Given the description of an element on the screen output the (x, y) to click on. 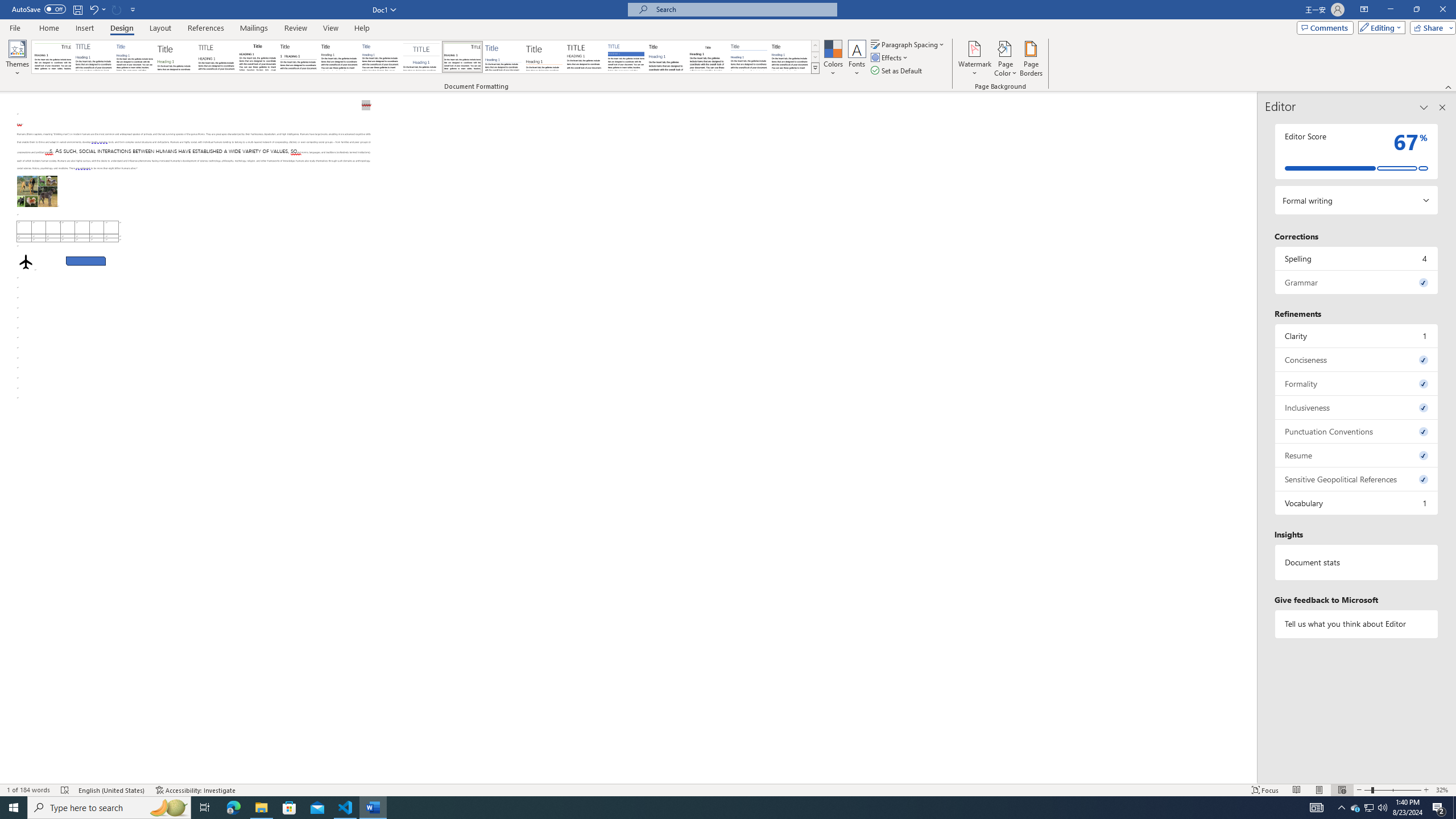
Document (52, 56)
Basic (Simple) (135, 56)
Word 2013 (790, 56)
Word (666, 56)
Basic (Stylish) (175, 56)
Basic (Elegant) (93, 56)
Zoom 32% (1443, 790)
Rectangle: Diagonal Corners Snipped 2 (85, 260)
